Given the description of an element on the screen output the (x, y) to click on. 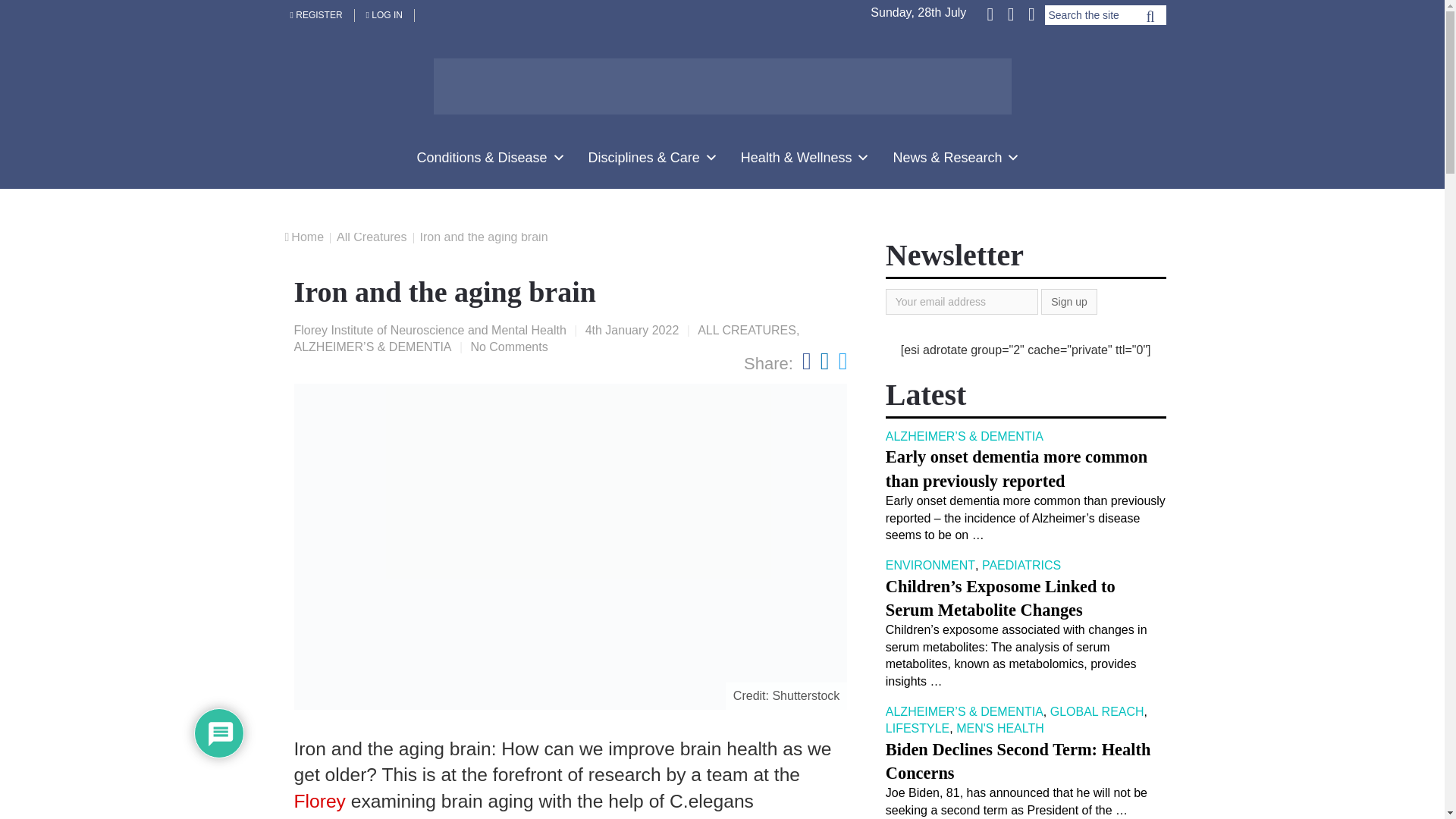
search (1150, 20)
Posts by Florey Institute of Neuroscience and Mental Health (430, 329)
Share to Twitter (842, 360)
search (1150, 20)
LOG IN (384, 15)
Sign up (1068, 301)
REGISTER (317, 15)
Follow The Hippocratic Post on LinkedIn (1030, 13)
View all posts in All Creatures (746, 329)
Share to FaceBook (806, 360)
Follow The Hippocratic Post on Twitter (1010, 13)
Like The Hippocratic Post on Facebook (991, 13)
